Given the description of an element on the screen output the (x, y) to click on. 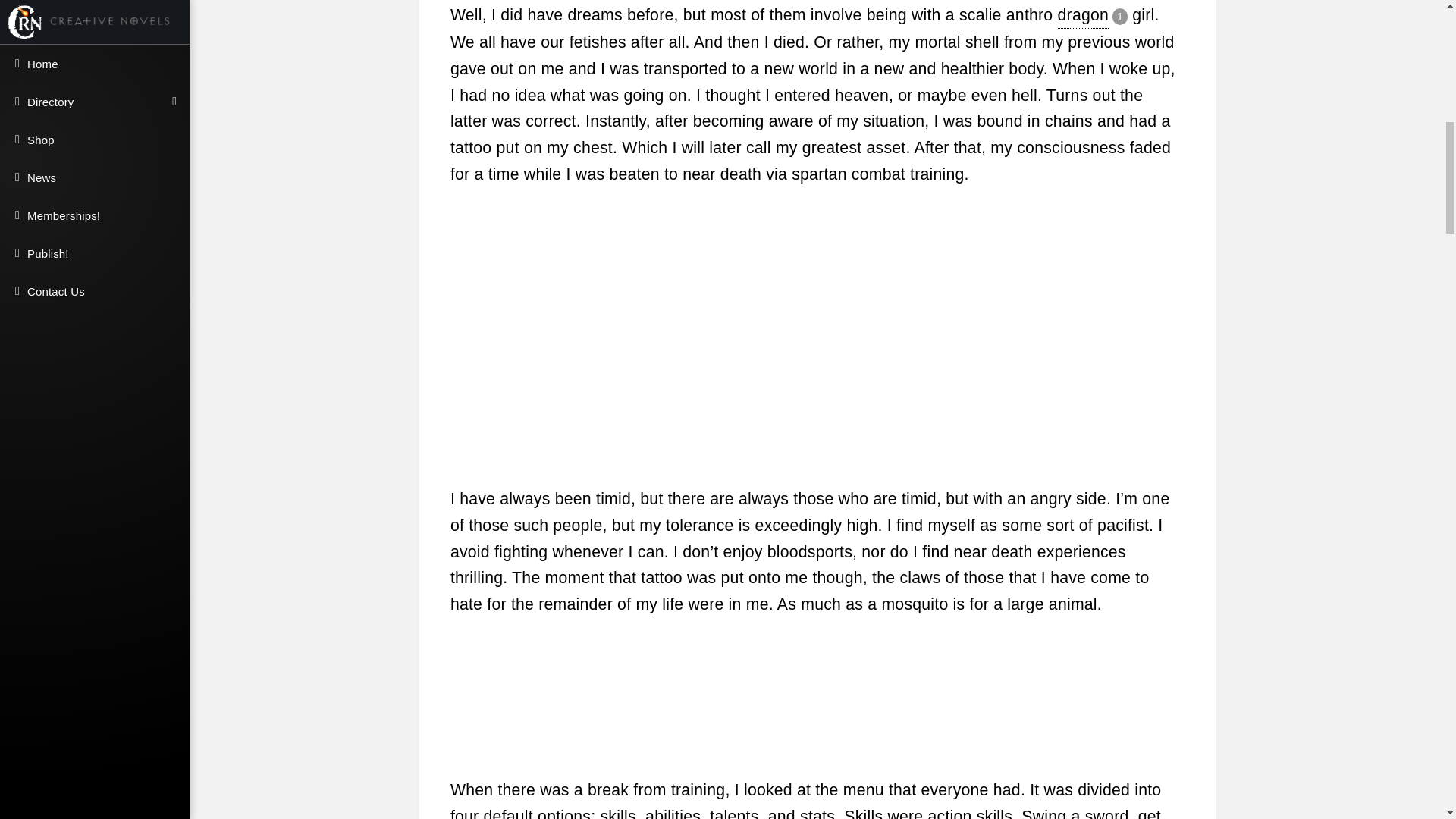
Back to Top (1423, 35)
